Given the description of an element on the screen output the (x, y) to click on. 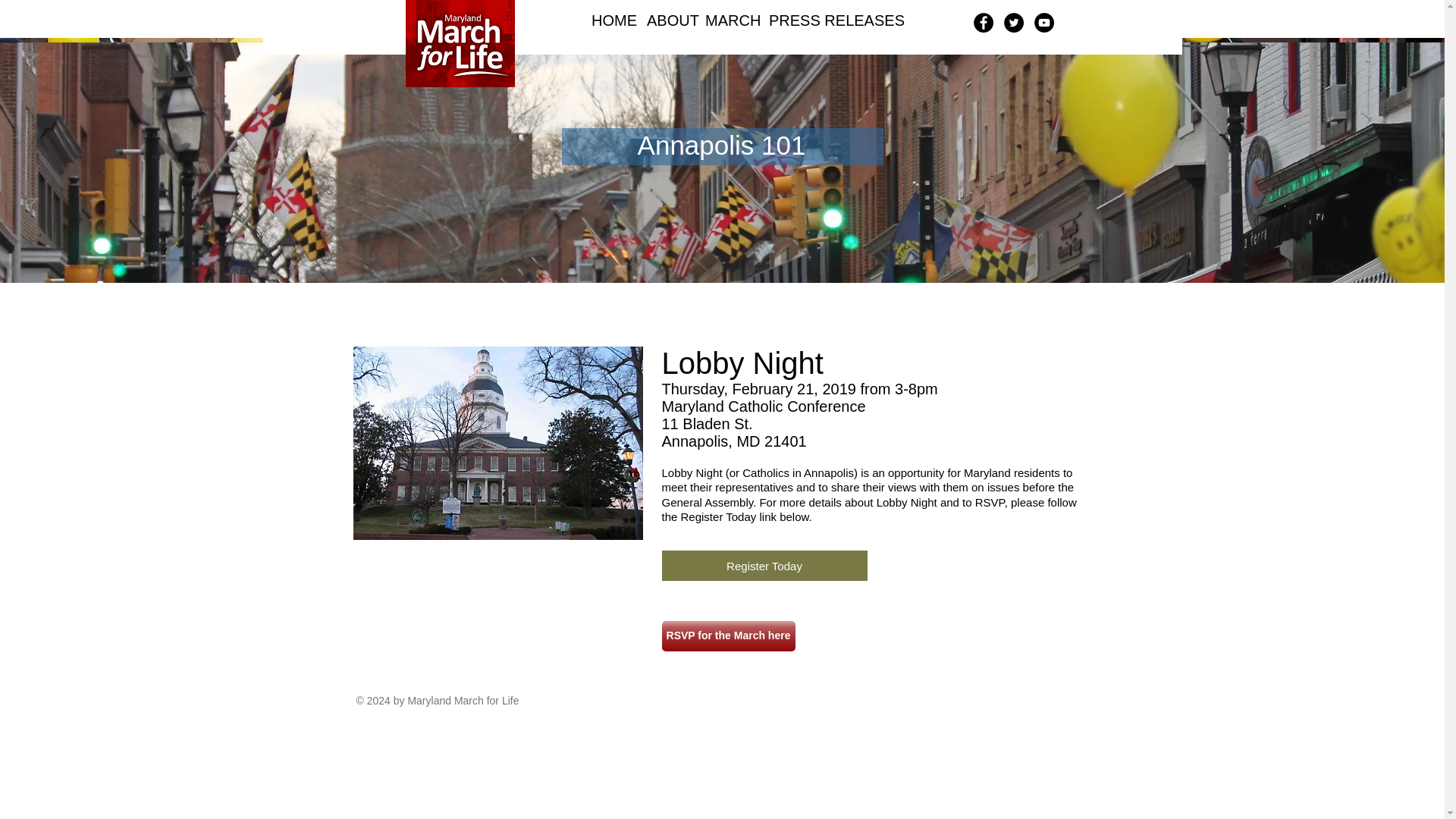
MARCH (725, 20)
RSVP for the March here (727, 635)
Register Today (763, 565)
HOME (606, 20)
ABOUT (664, 20)
Log In (1044, 57)
PRESS RELEASES (813, 20)
